Given the description of an element on the screen output the (x, y) to click on. 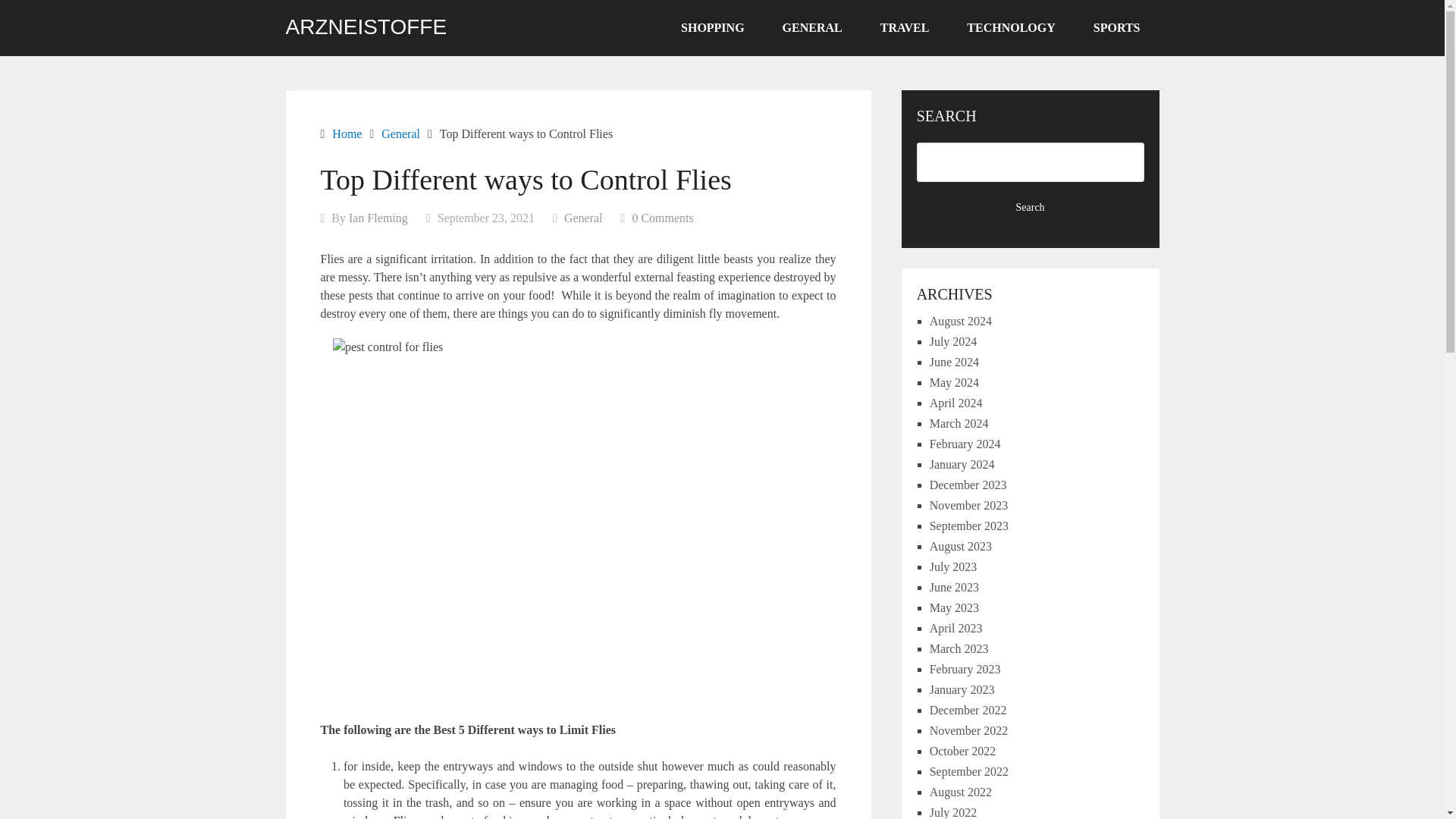
GENERAL (811, 28)
April 2024 (956, 402)
November 2022 (969, 730)
TRAVEL (905, 28)
December 2022 (968, 709)
General (583, 217)
February 2024 (965, 443)
July 2024 (953, 341)
January 2024 (962, 463)
TECHNOLOGY (1010, 28)
